Given the description of an element on the screen output the (x, y) to click on. 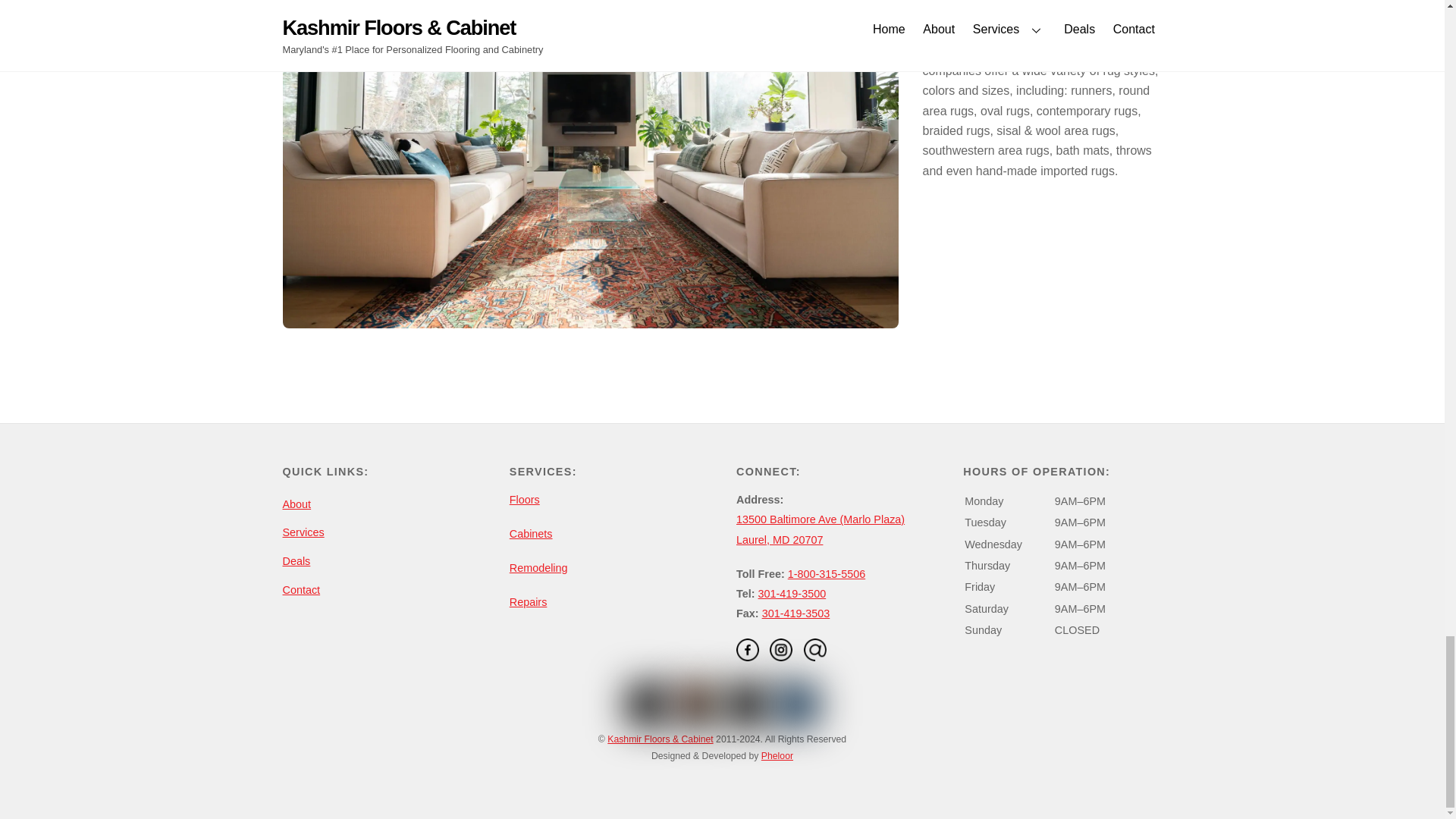
Remodeling (538, 567)
Services (302, 532)
301-419-3503 (795, 613)
Contact (301, 589)
About (296, 503)
301-419-3500 (792, 593)
Cabinets (531, 533)
1-800-315-5506 (825, 573)
Repairs (528, 602)
Floors (524, 499)
Pheloor (777, 756)
Deals (296, 561)
